Given the description of an element on the screen output the (x, y) to click on. 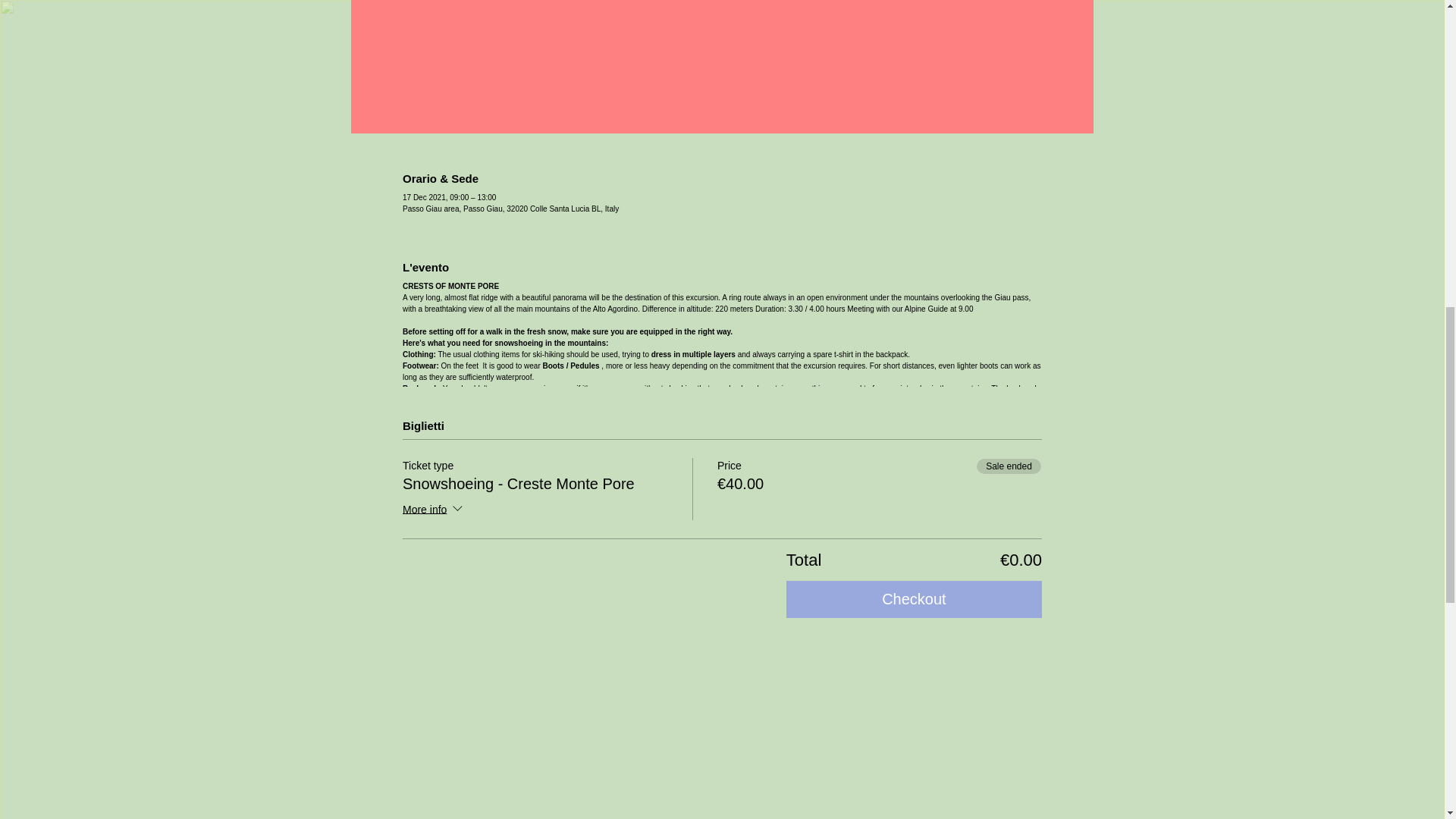
More info (434, 510)
Checkout (914, 599)
